Given the description of an element on the screen output the (x, y) to click on. 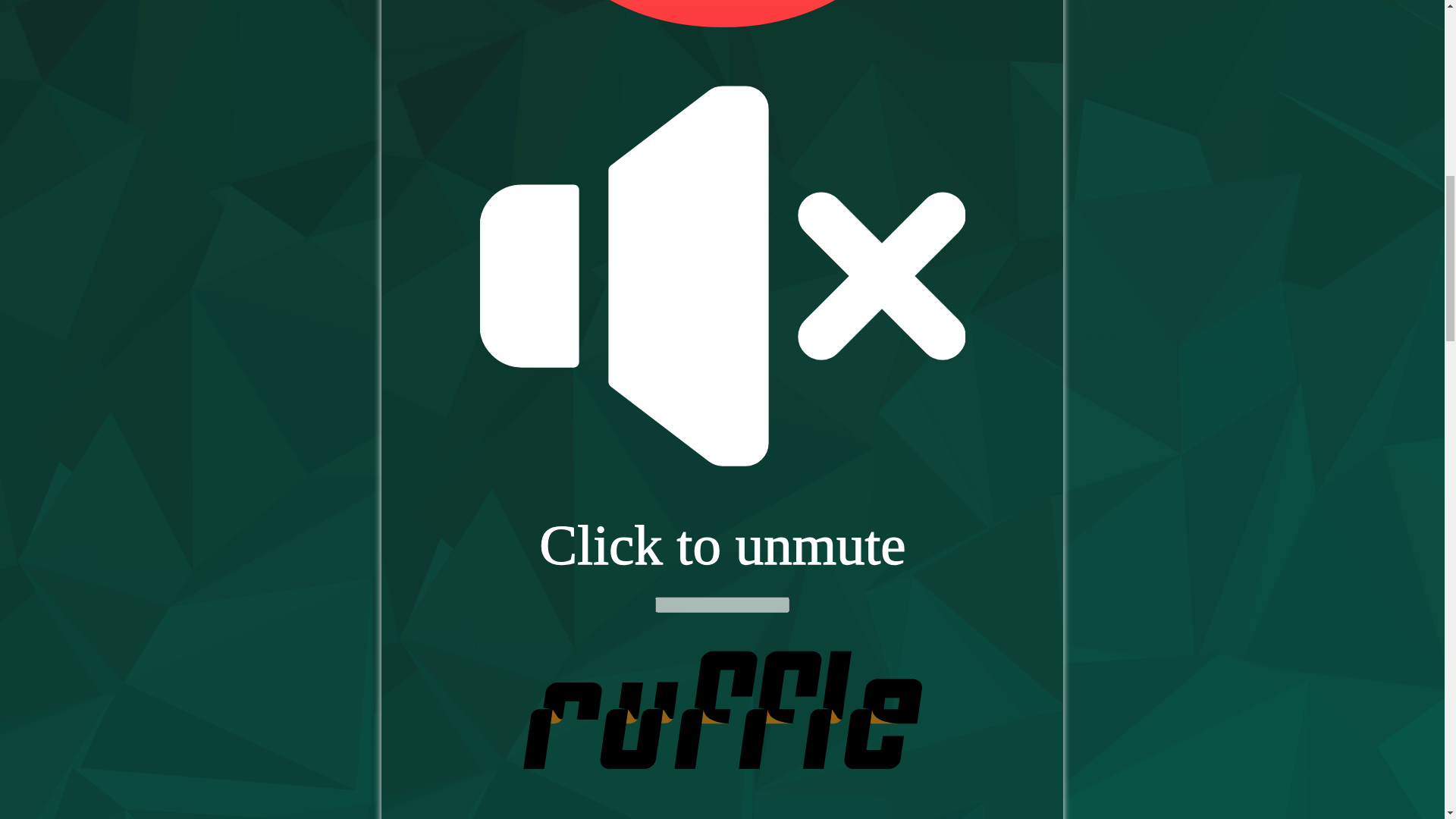
Advertisement (1326, 87)
Advertisement (117, 87)
